Given the description of an element on the screen output the (x, y) to click on. 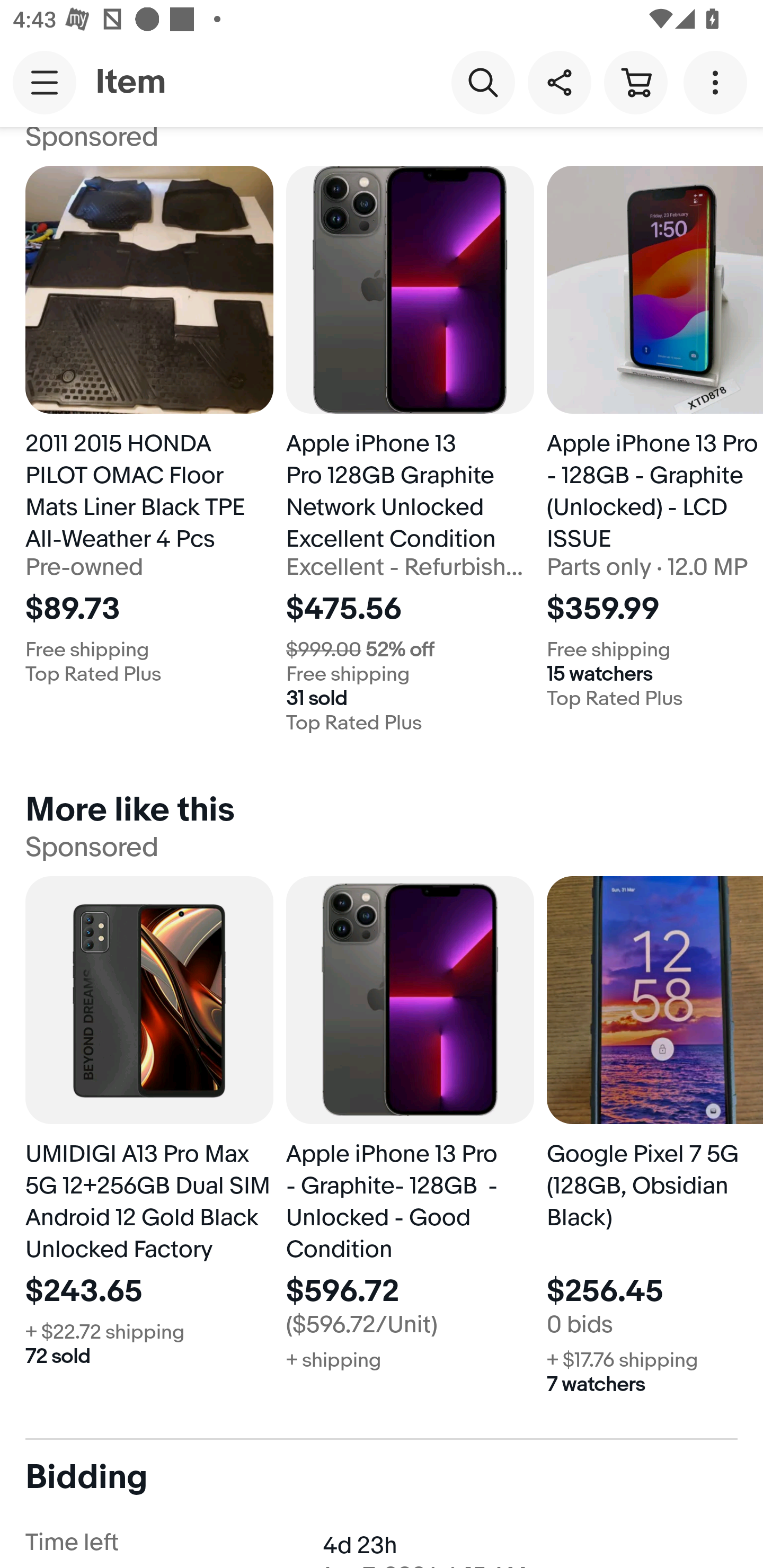
Main navigation, open (44, 82)
Search (482, 81)
Share this item (559, 81)
Cart button shopping cart (635, 81)
More options (718, 81)
